Given the description of an element on the screen output the (x, y) to click on. 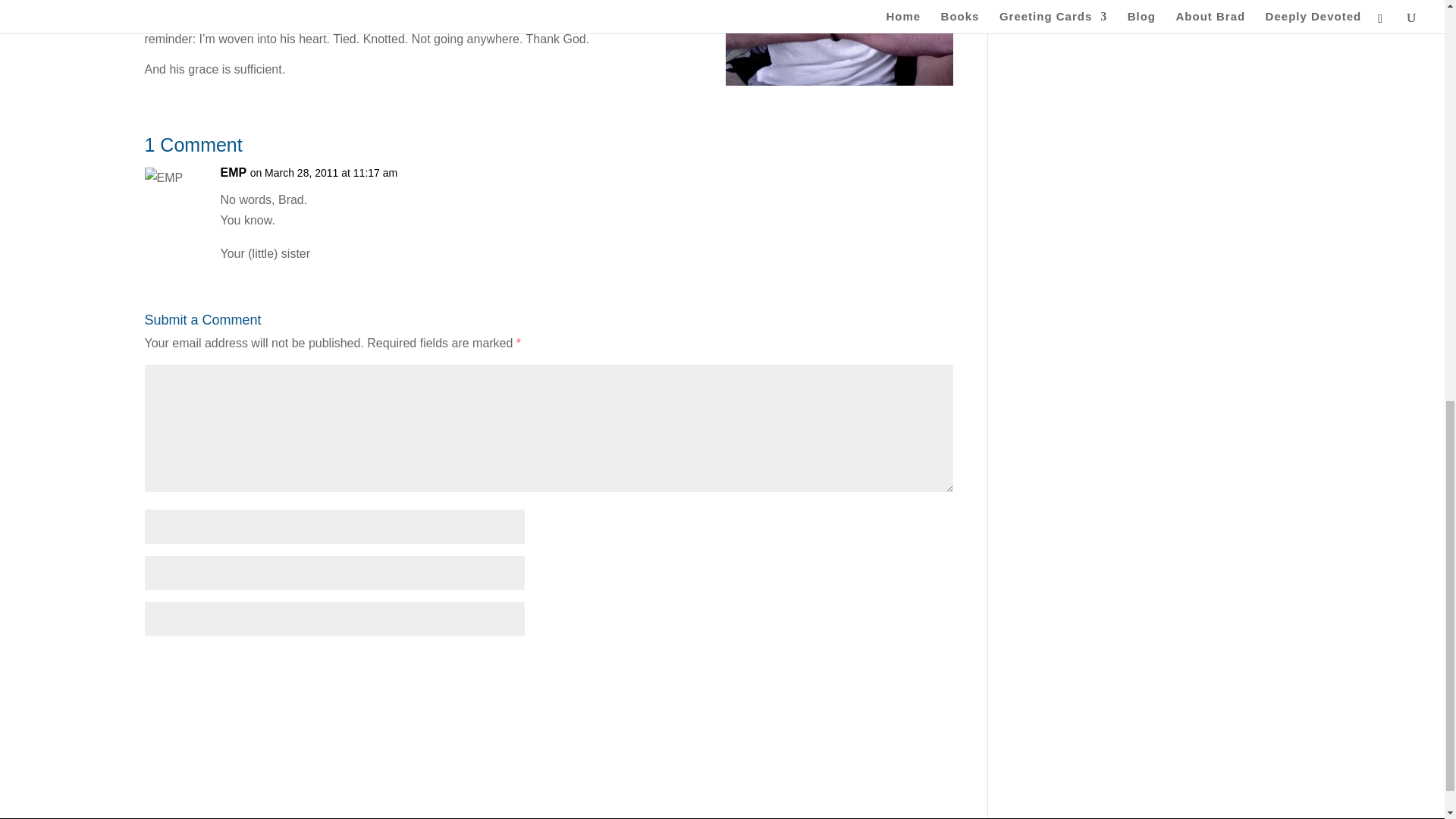
Submit Comment (878, 667)
Reply (916, 186)
Photo on 2011-03-28 at 10.46 (839, 42)
EMP (232, 172)
Submit Comment (878, 667)
